Given the description of an element on the screen output the (x, y) to click on. 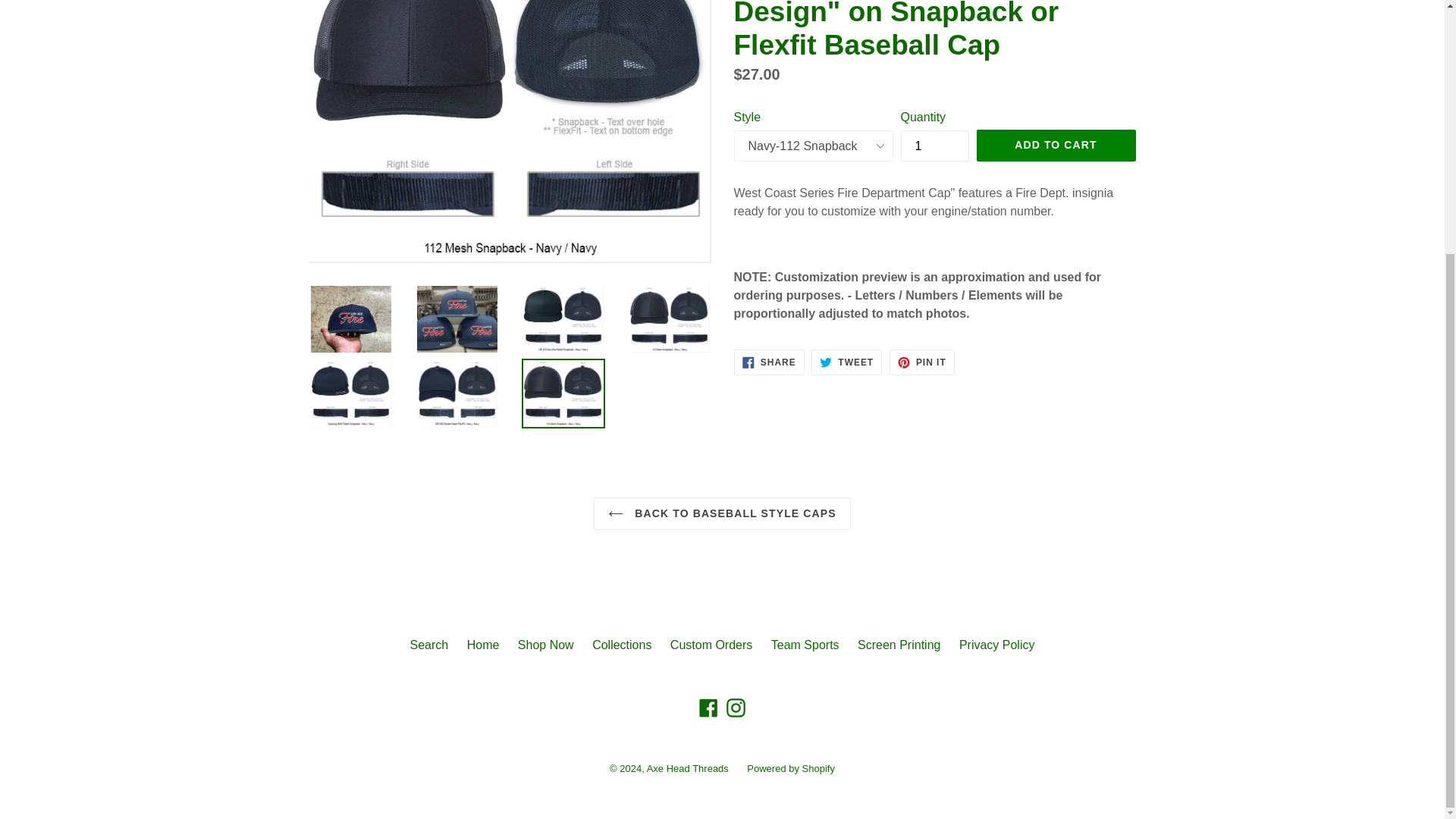
Pin on Pinterest (922, 362)
Axe Head Threads on Instagram (735, 707)
Axe Head Threads on Facebook (708, 707)
Tweet on Twitter (846, 362)
Share on Facebook (769, 362)
1 (935, 145)
